Given the description of an element on the screen output the (x, y) to click on. 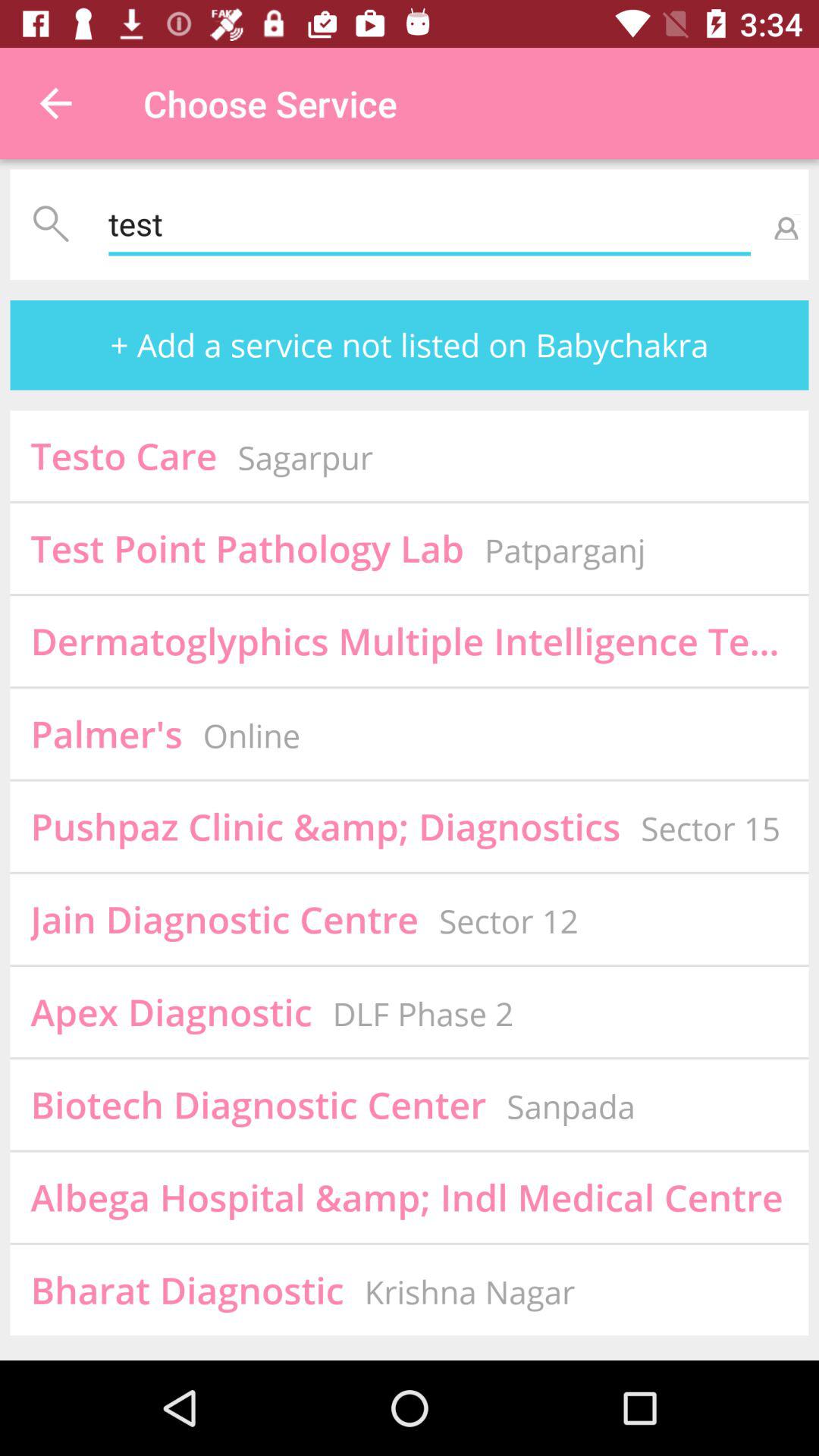
swipe to the sector 12 (508, 920)
